Given the description of an element on the screen output the (x, y) to click on. 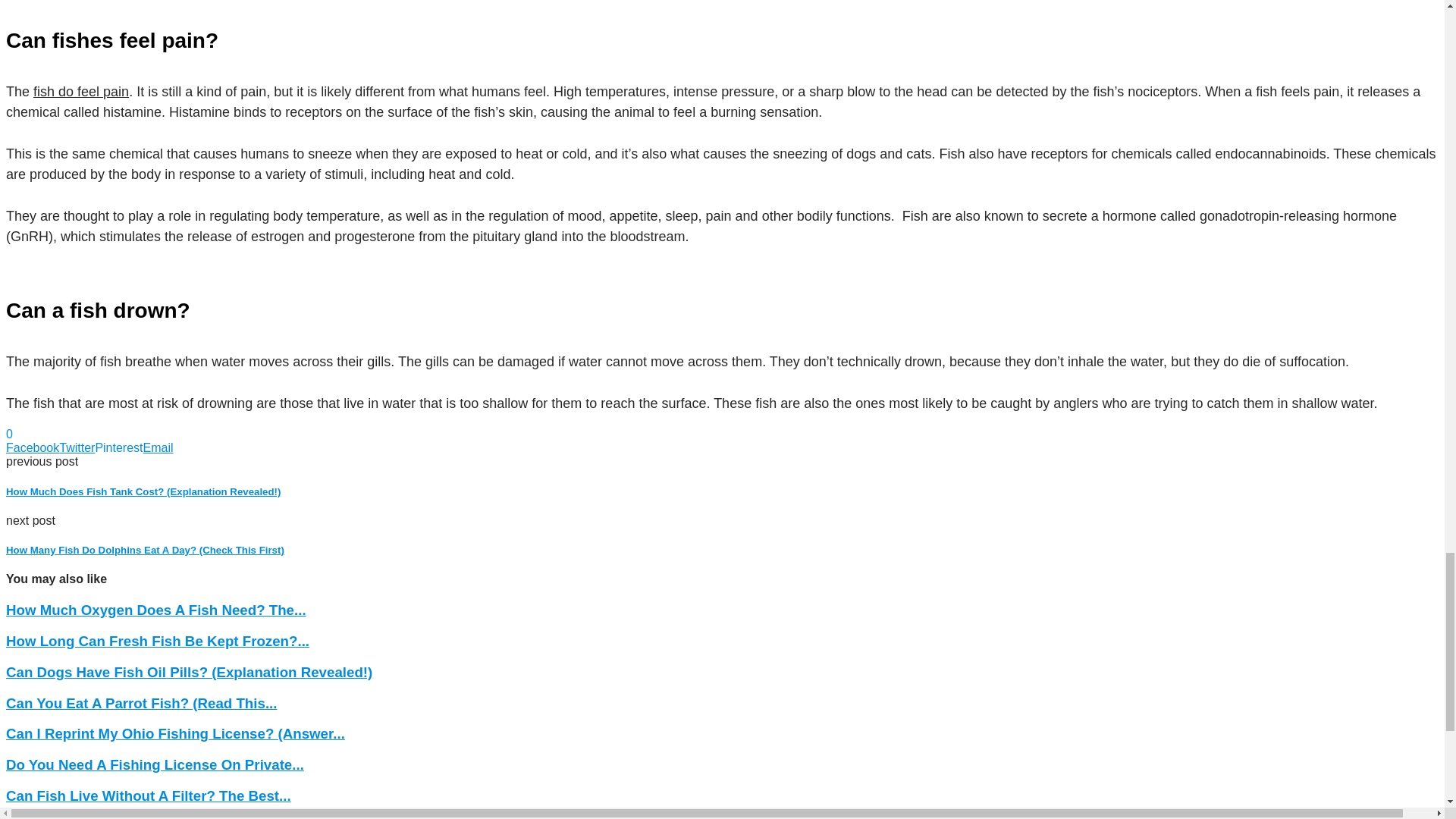
Facebook (32, 447)
Email (157, 447)
Pinterest (118, 447)
Twitter (76, 447)
